Given the description of an element on the screen output the (x, y) to click on. 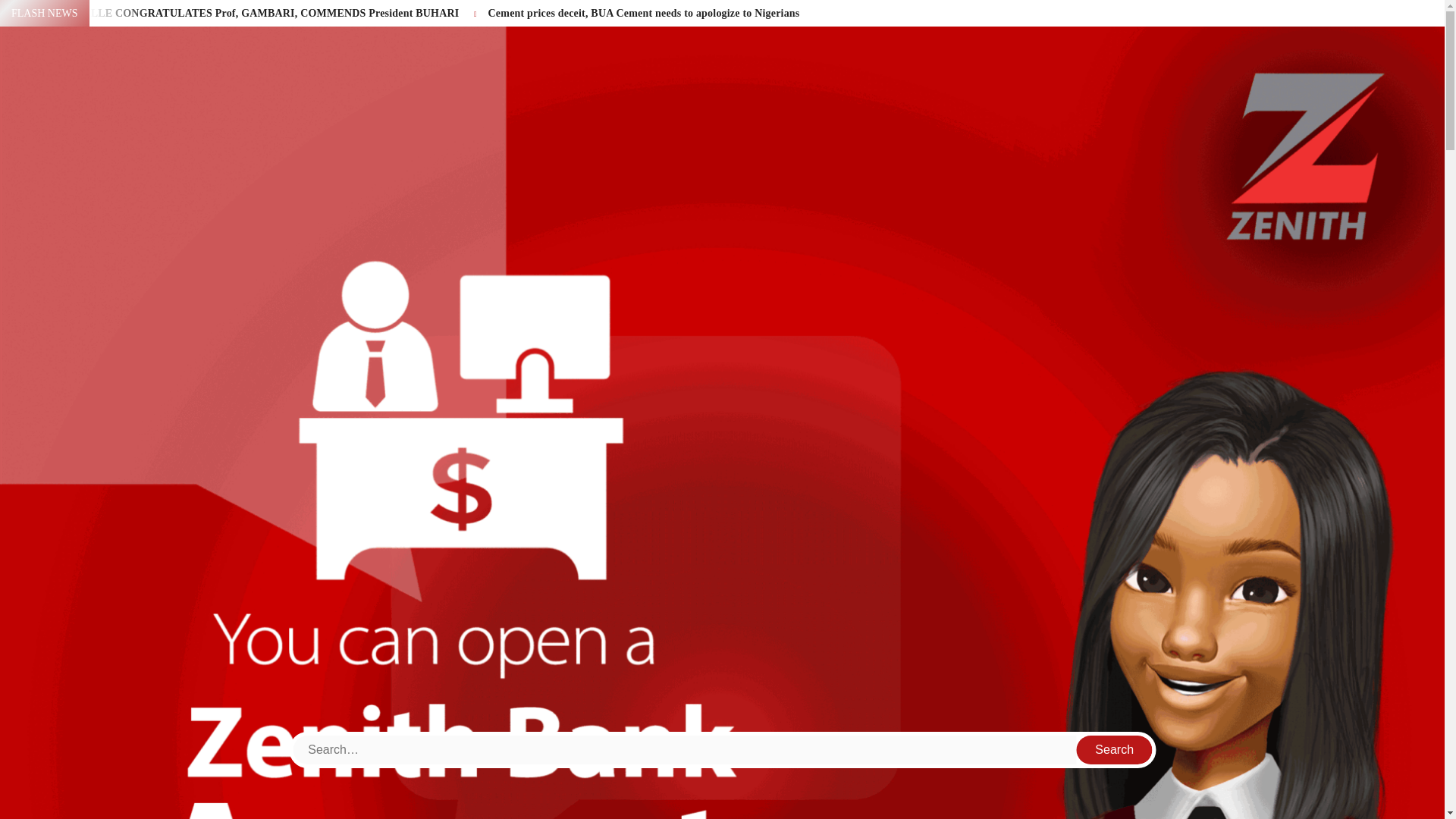
Search (1115, 749)
Search (1115, 749)
Search (1115, 749)
